Given the description of an element on the screen output the (x, y) to click on. 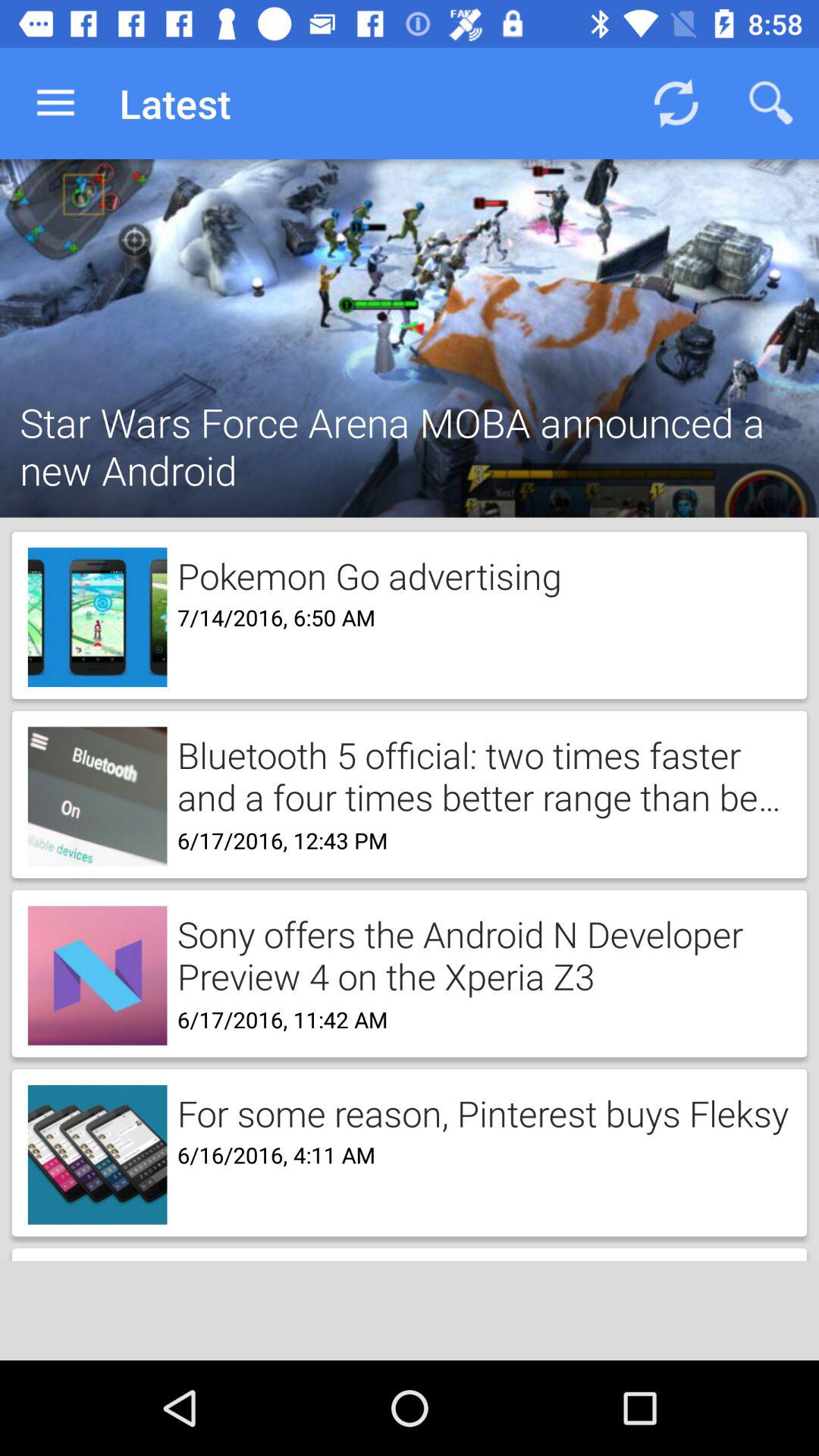
open the icon next to the latest icon (55, 103)
